Given the description of an element on the screen output the (x, y) to click on. 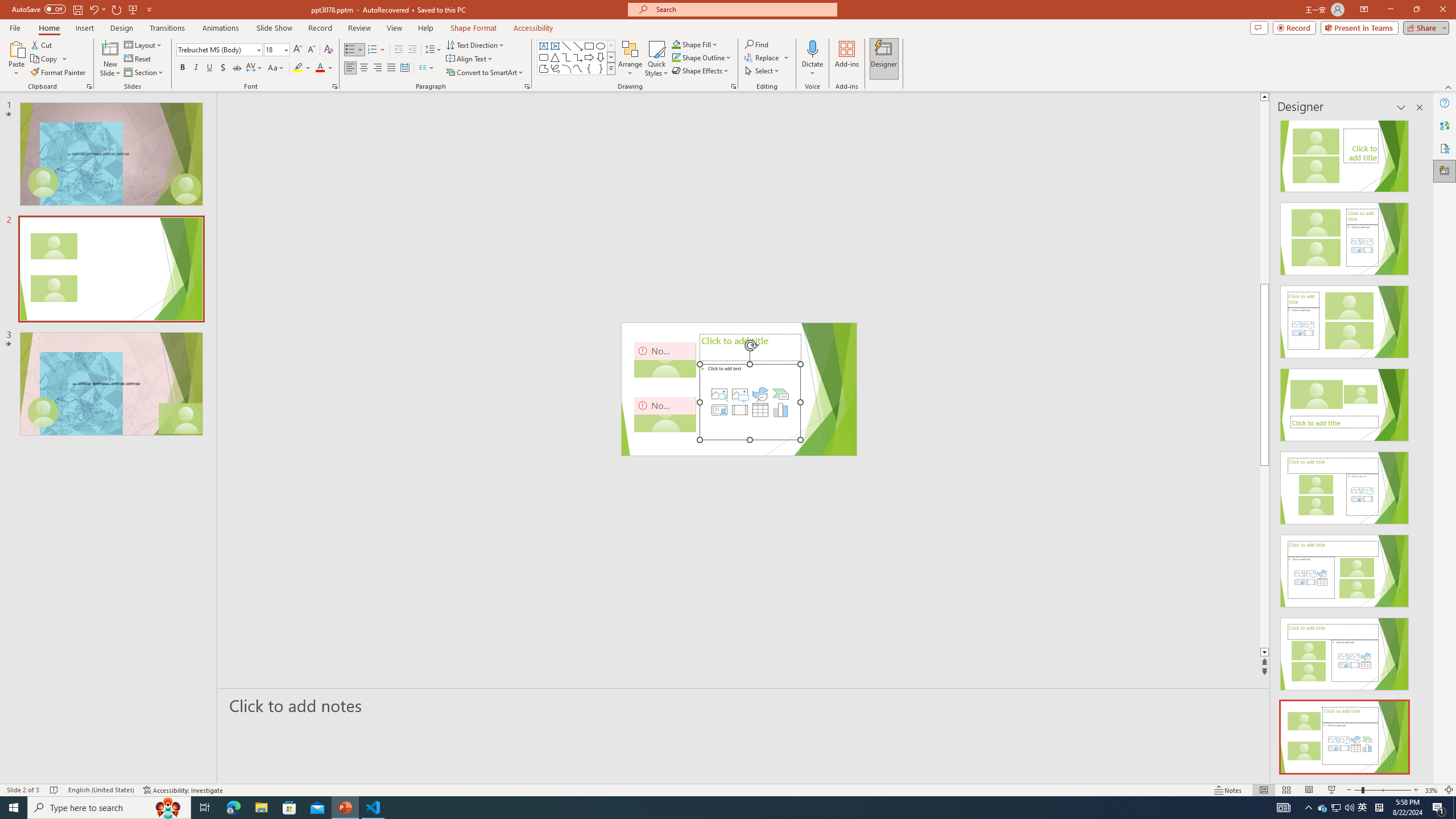
Content Placeholder (750, 401)
Stock Images (719, 394)
